Given the description of an element on the screen output the (x, y) to click on. 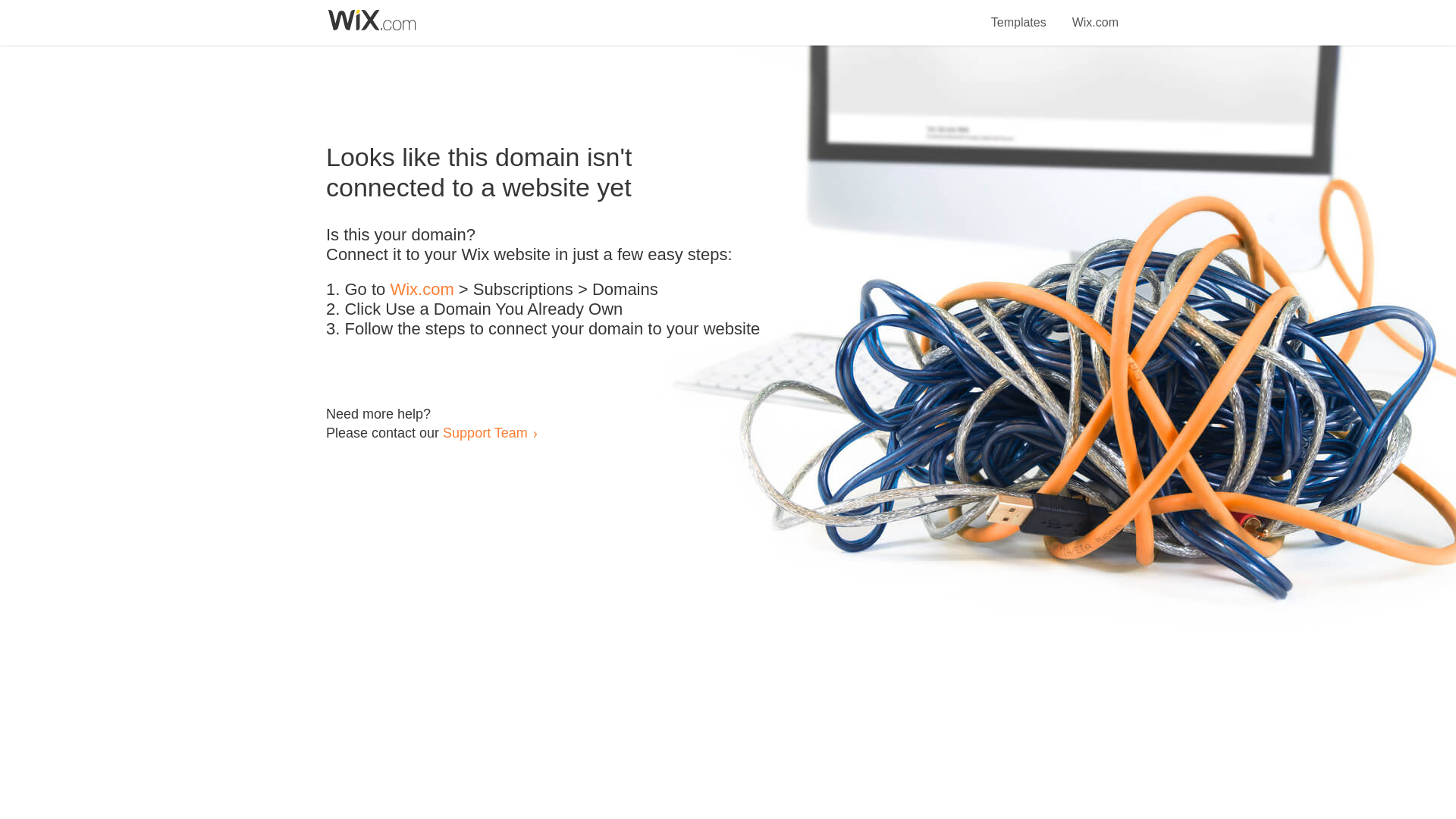
Support Team (484, 432)
Wix.com (1095, 14)
Templates (1018, 14)
Wix.com (421, 289)
